Given the description of an element on the screen output the (x, y) to click on. 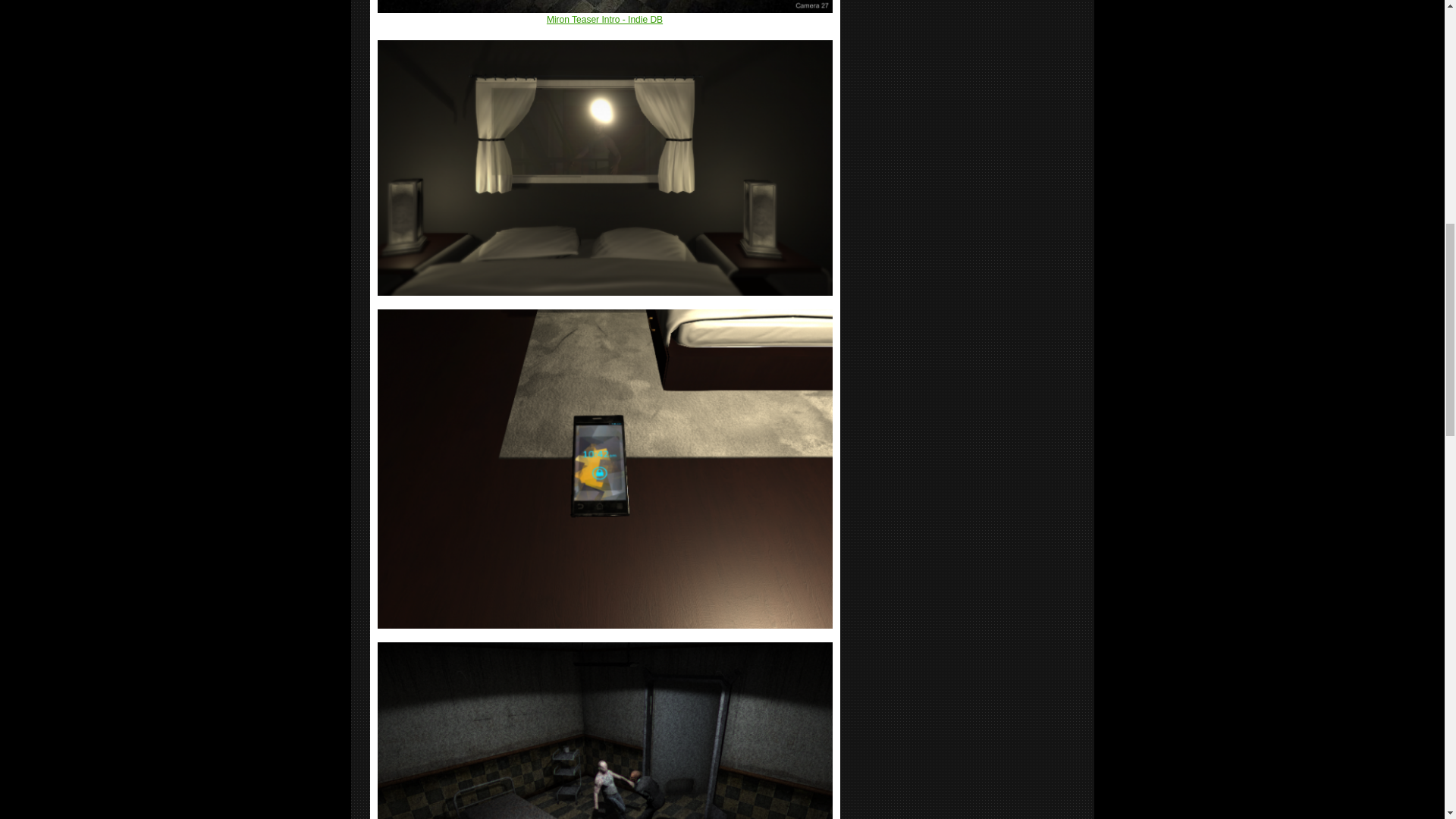
No more flashlights, use the smartphone - Indie DB (604, 468)
test - Indie DB (604, 778)
test - Indie DB (604, 167)
